Given the description of an element on the screen output the (x, y) to click on. 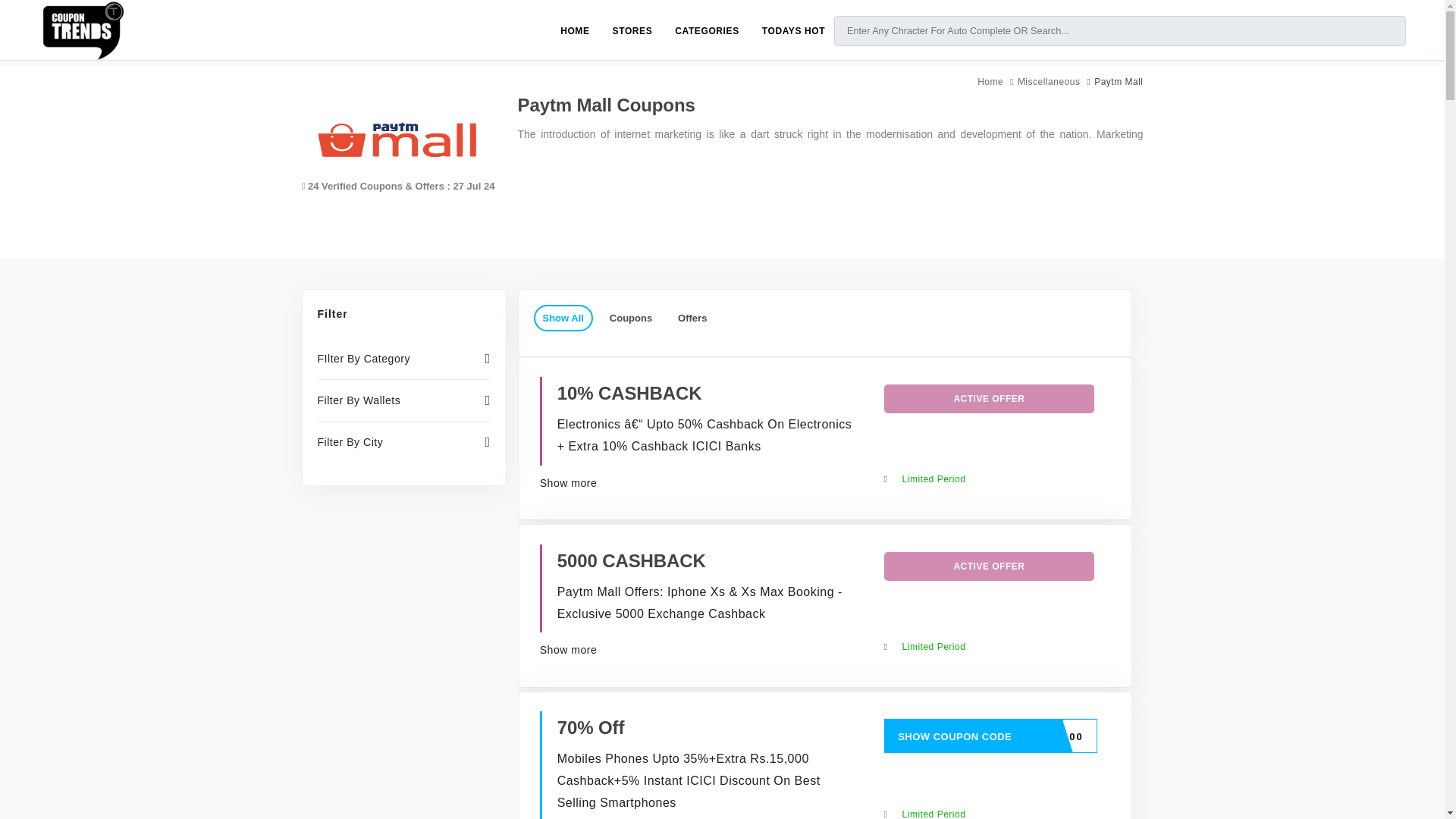
STORES (633, 31)
Home (989, 81)
ACTIVE OFFER (988, 398)
5000 CASHBACK (631, 560)
Paytm Mall Coupons (396, 139)
TODAYS HOT (793, 31)
Coupons (630, 317)
Miscellaneous (1048, 81)
Offers (692, 317)
CATEGORIES (706, 31)
HOME (574, 31)
Today's Hot Offers (793, 31)
Paytm Mall Coupons (396, 133)
Show All (563, 317)
ACTIVE OFFER (988, 566)
